Given the description of an element on the screen output the (x, y) to click on. 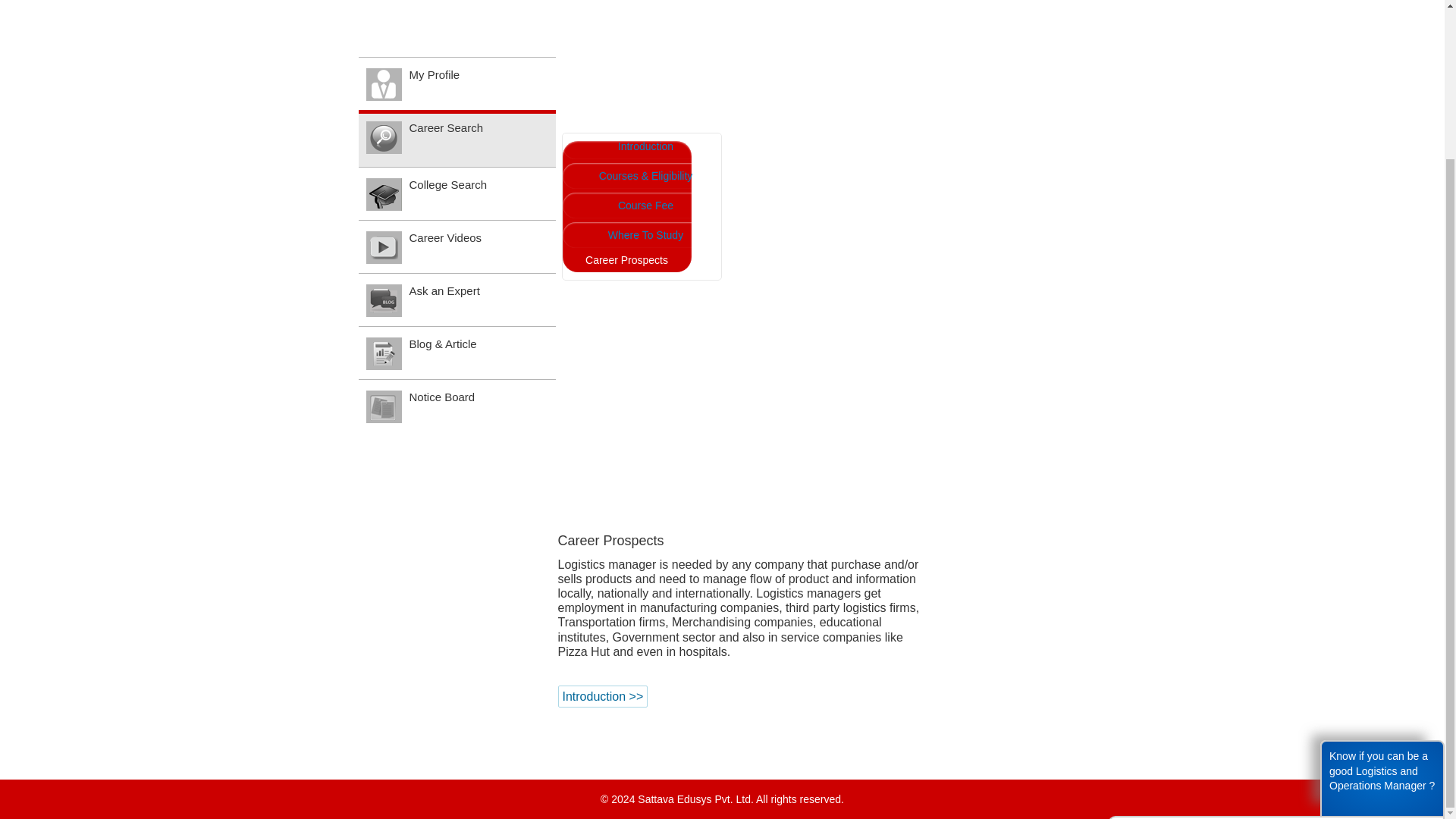
Where To Study (636, 48)
College Search (456, 16)
Ask an Expert (456, 112)
Course Fee (636, 18)
Career Videos (456, 59)
Notice Board (456, 218)
Career Prospects (626, 42)
